Given the description of an element on the screen output the (x, y) to click on. 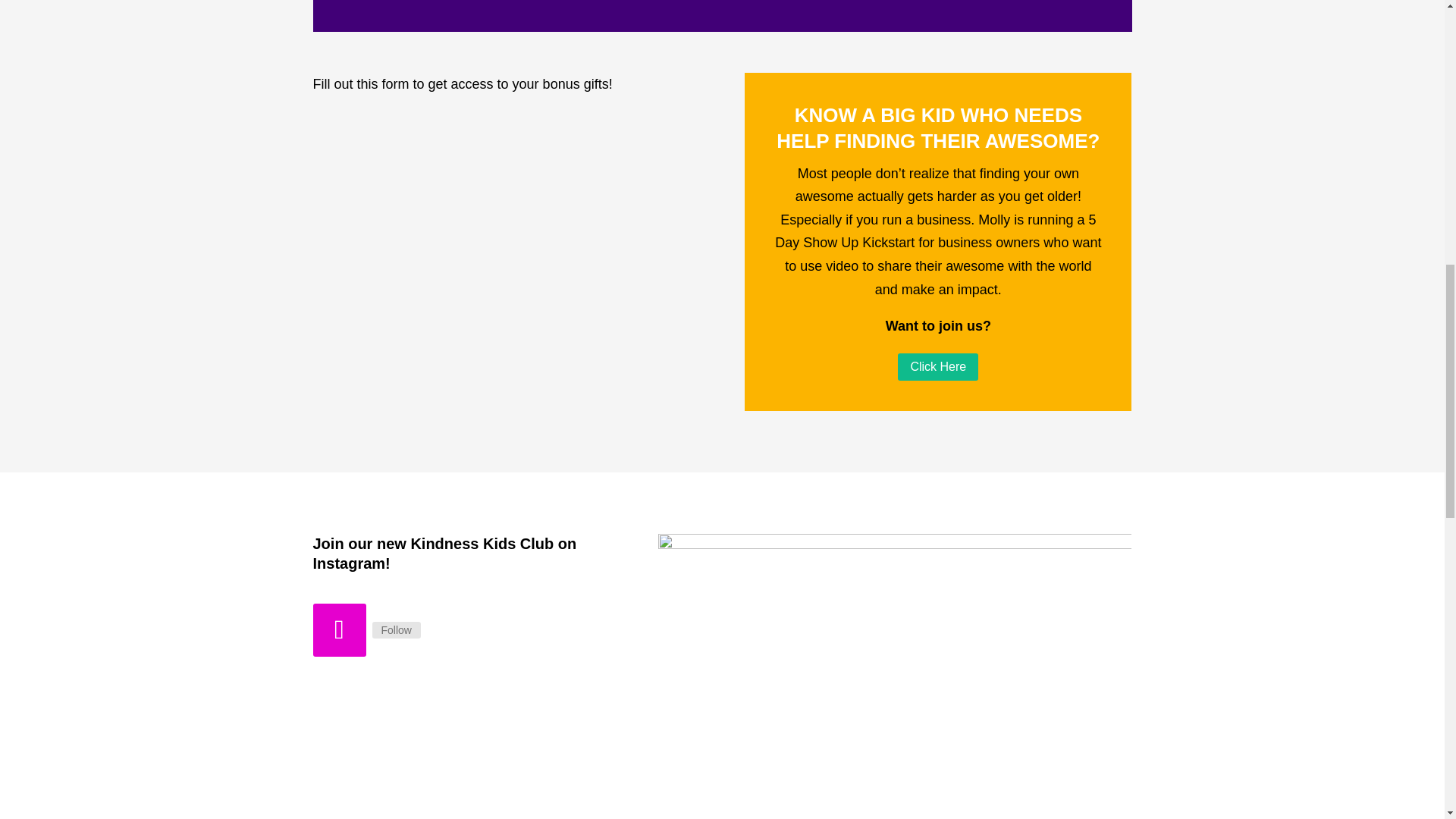
Follow (395, 629)
Follow on Instagram (339, 629)
Instagram (395, 629)
Click Here (938, 366)
